Given the description of an element on the screen output the (x, y) to click on. 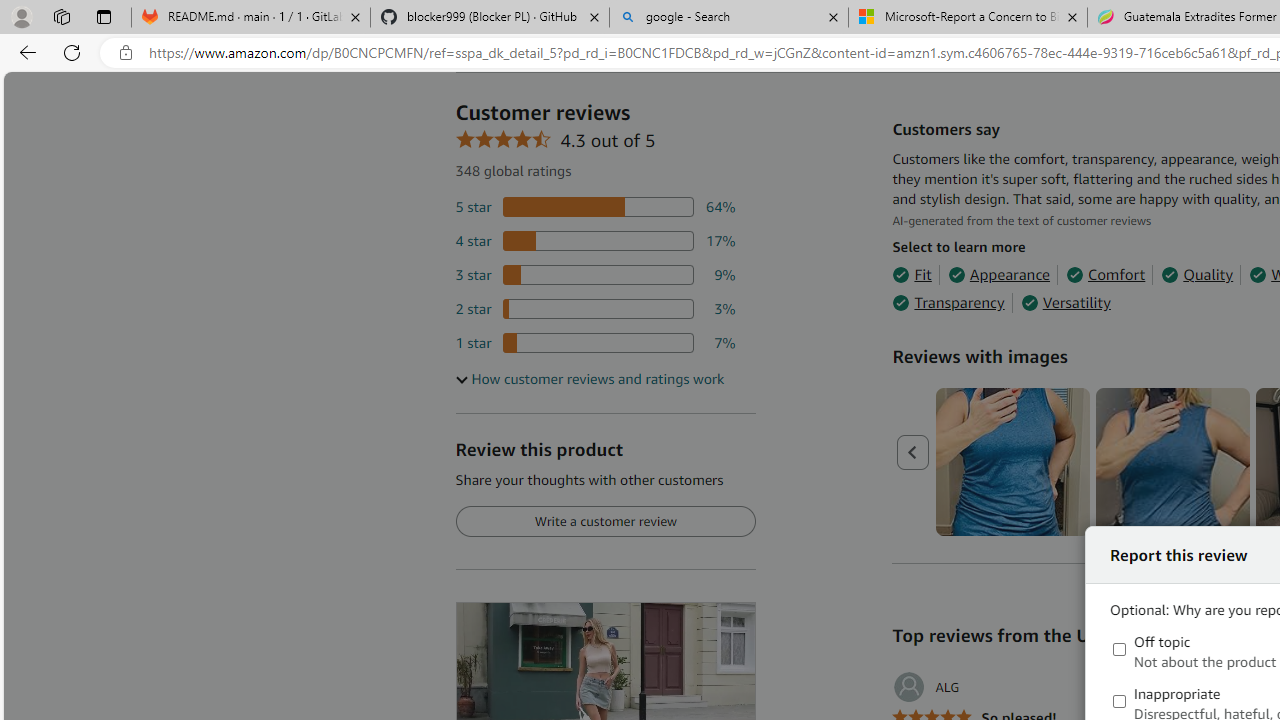
Microsoft-Report a Concern to Bing (967, 17)
Appearance (998, 274)
7 percent of reviews have 1 stars (595, 343)
Customer Image (1172, 462)
Write a customer review (605, 521)
Quality (1196, 274)
google - Search (729, 17)
Previous page (913, 452)
